Given the description of an element on the screen output the (x, y) to click on. 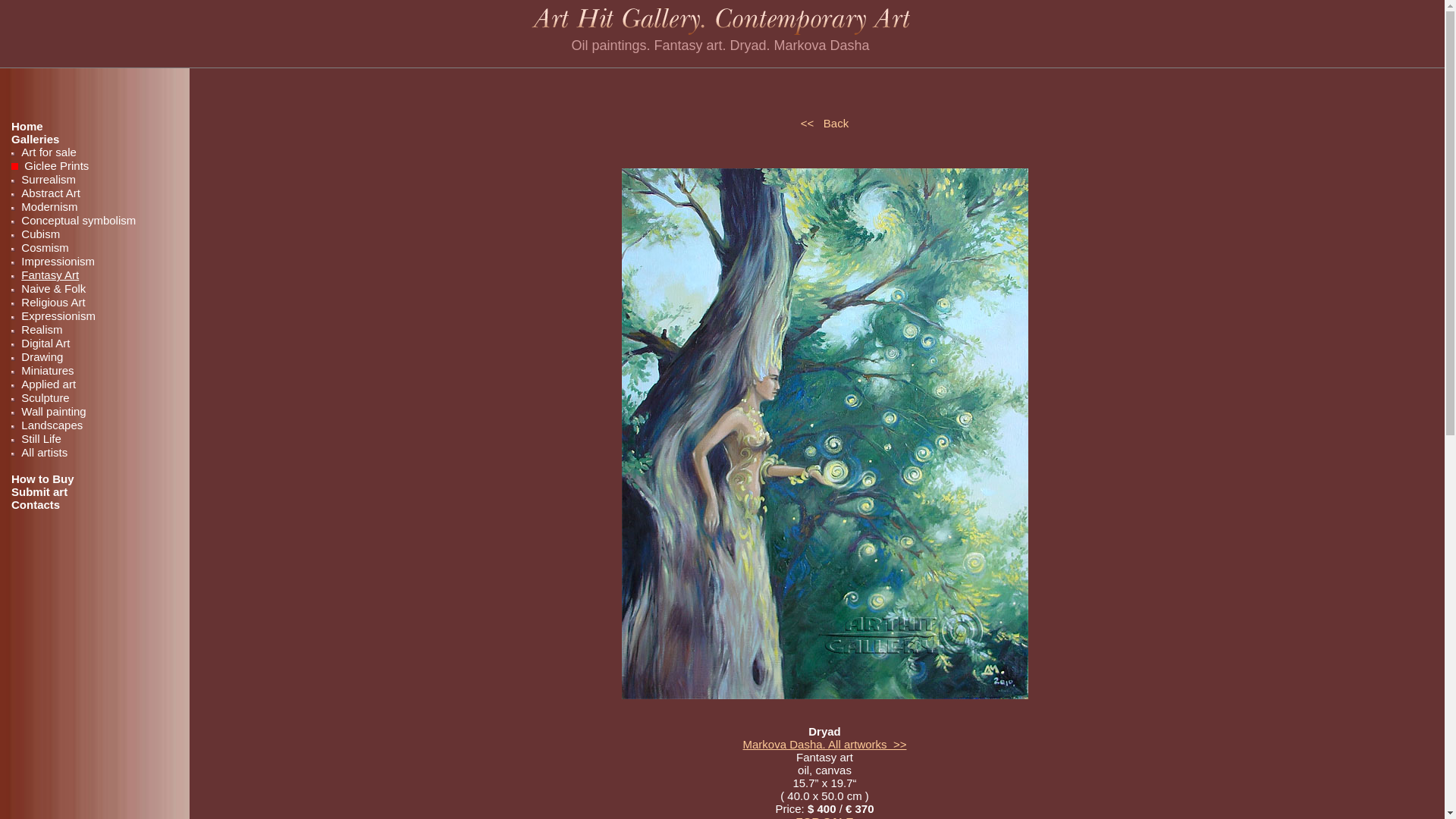
Applied art (46, 383)
Digital Art (43, 342)
Cosmism (42, 246)
Landscapes (49, 424)
Click To Visit Artist Gallery (824, 744)
Surrealism (46, 178)
Religious Art (50, 301)
Miniatures (45, 369)
Abstract Art (48, 192)
Home (27, 125)
